Given the description of an element on the screen output the (x, y) to click on. 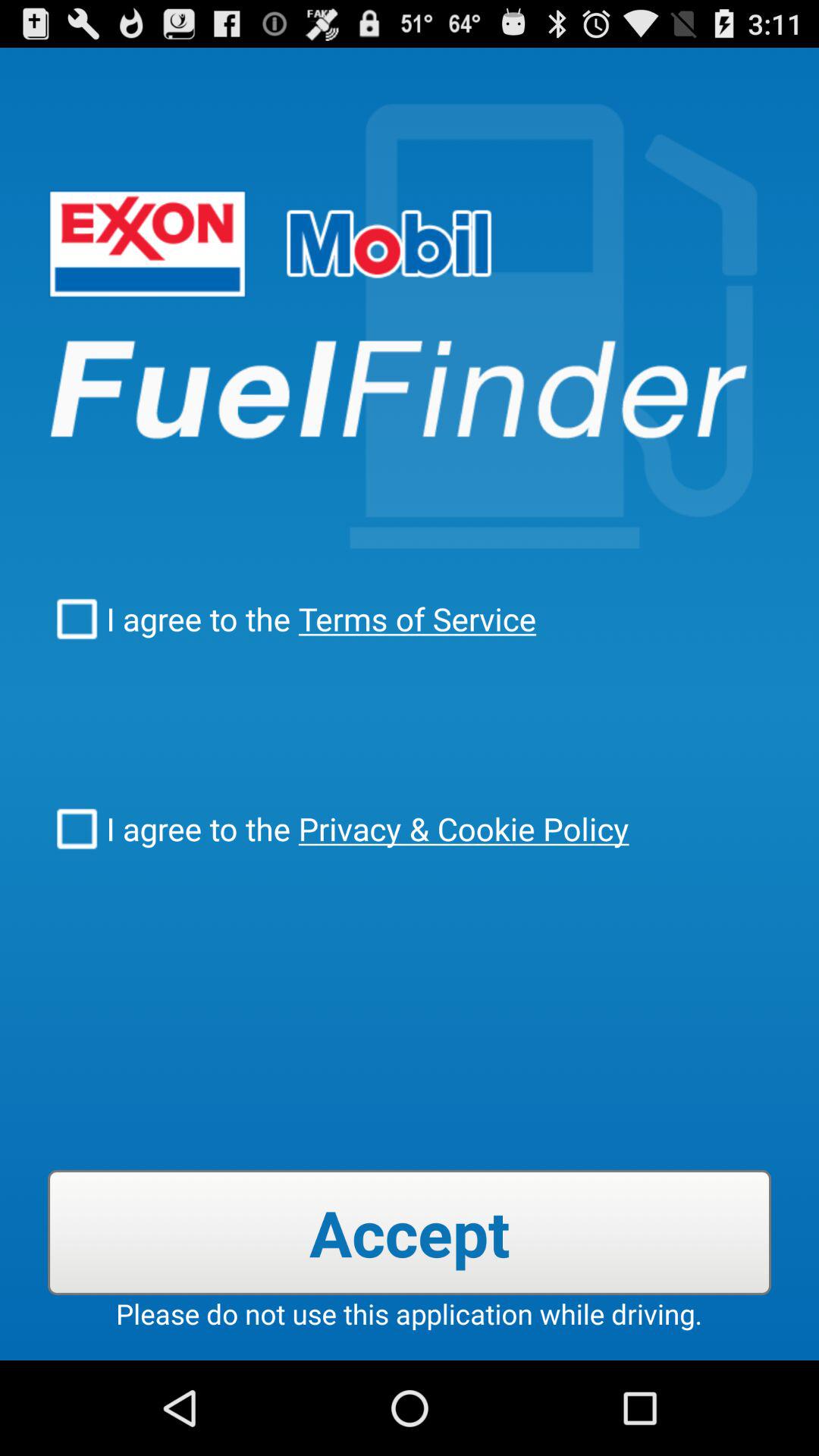
press the icon above please do not (409, 1232)
